Given the description of an element on the screen output the (x, y) to click on. 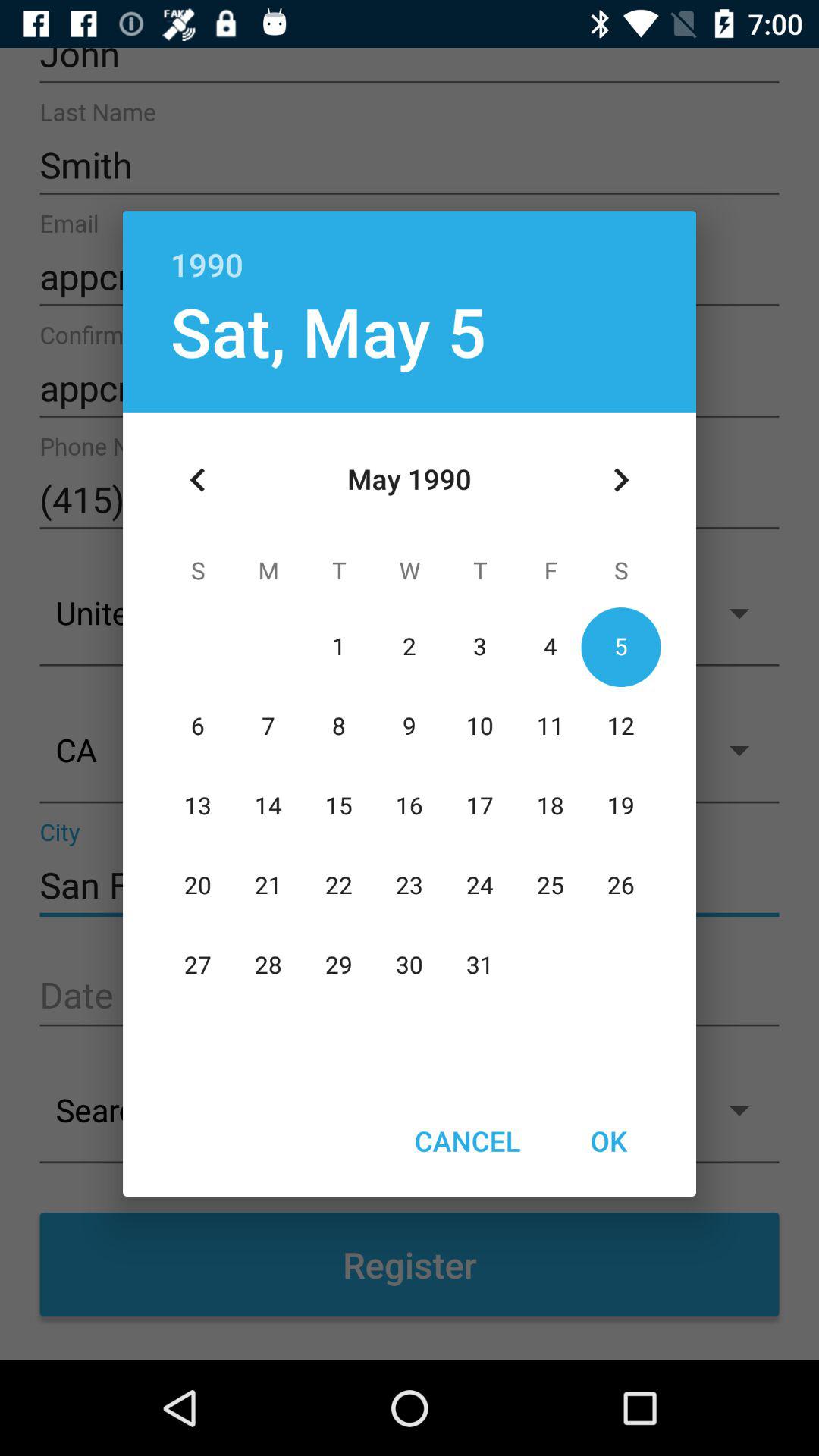
turn on the icon next to the cancel (608, 1140)
